Given the description of an element on the screen output the (x, y) to click on. 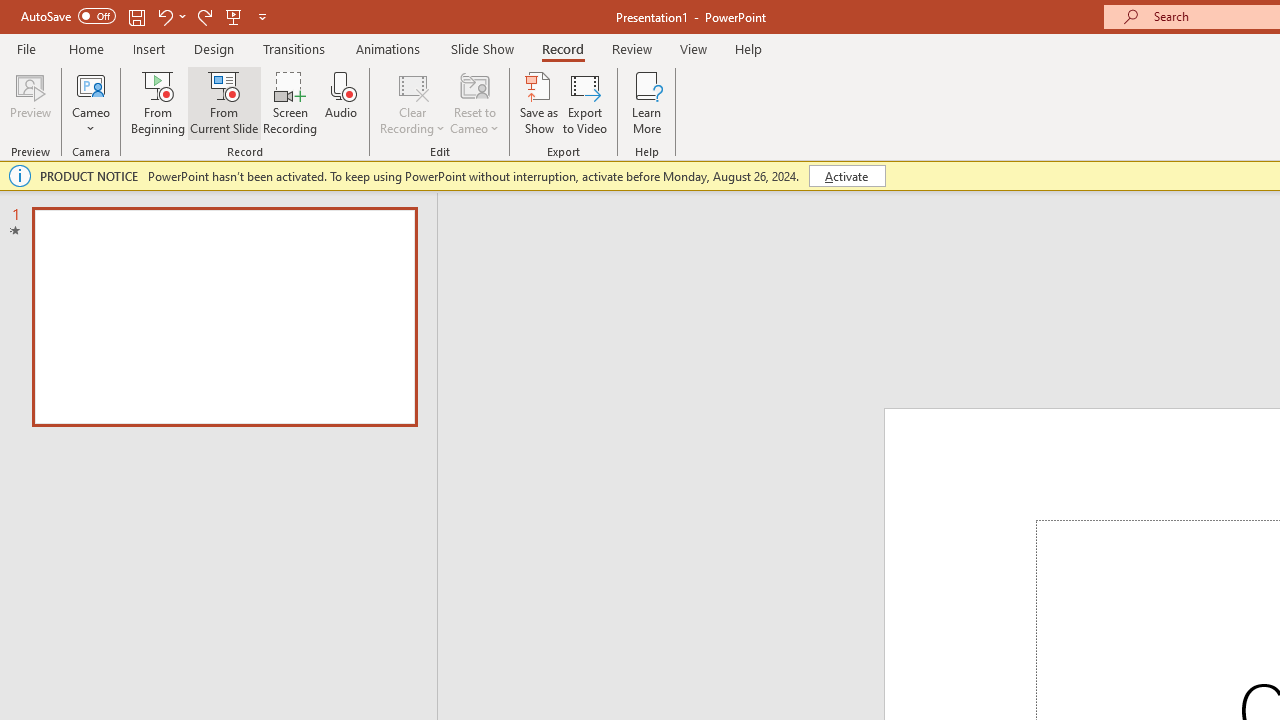
Reset to Cameo (474, 102)
Save as Show (539, 102)
Export to Video (585, 102)
Audio (341, 102)
